Given the description of an element on the screen output the (x, y) to click on. 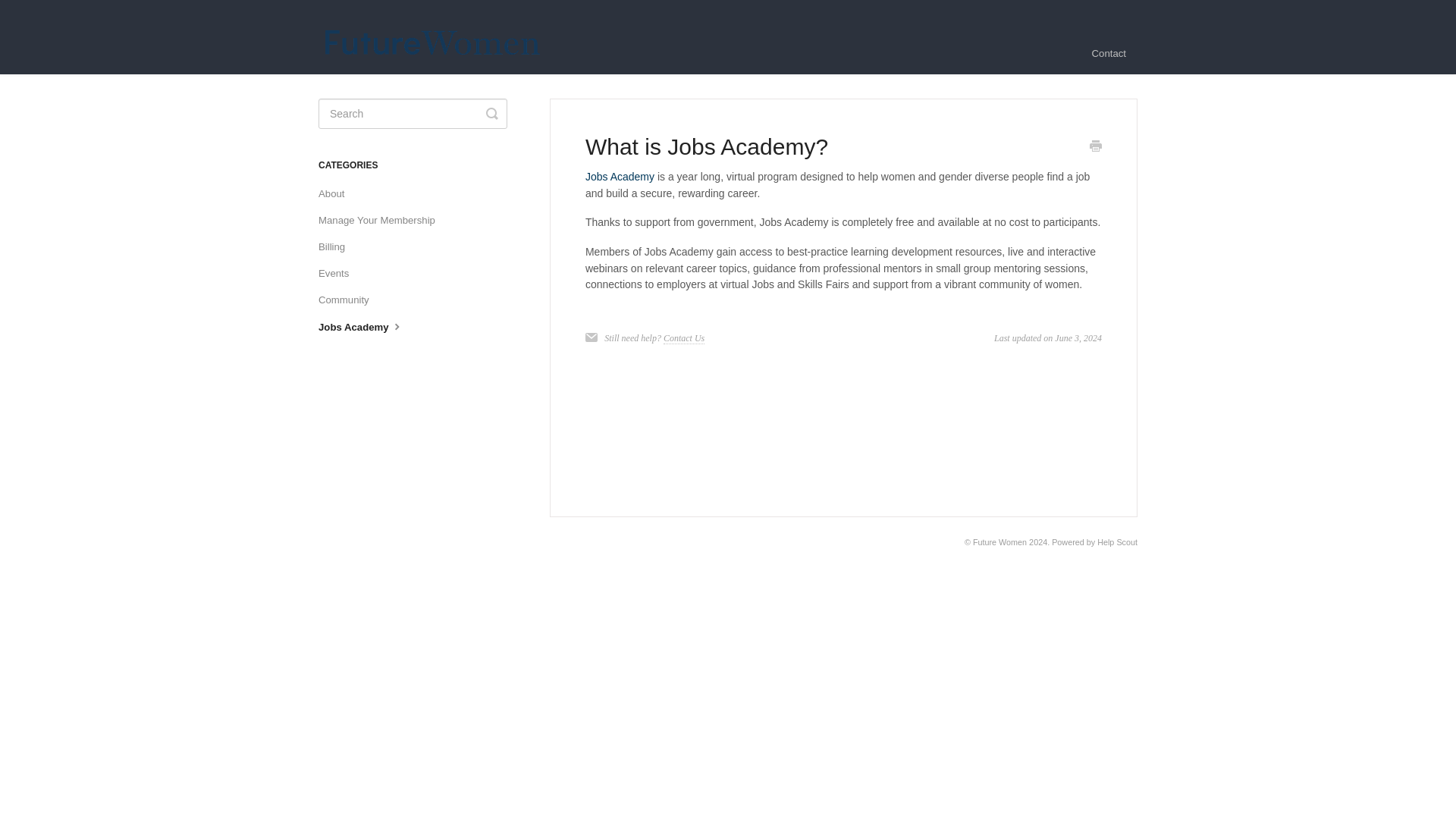
Manage Your Membership (382, 220)
Community (349, 300)
Contact Us (683, 337)
search-query (412, 113)
Help Scout (1117, 542)
Billing (337, 247)
Future Women (999, 542)
Contact (1108, 53)
Events (338, 273)
Jobs Academy (367, 326)
Jobs Academy (619, 176)
About (336, 193)
